Given the description of an element on the screen output the (x, y) to click on. 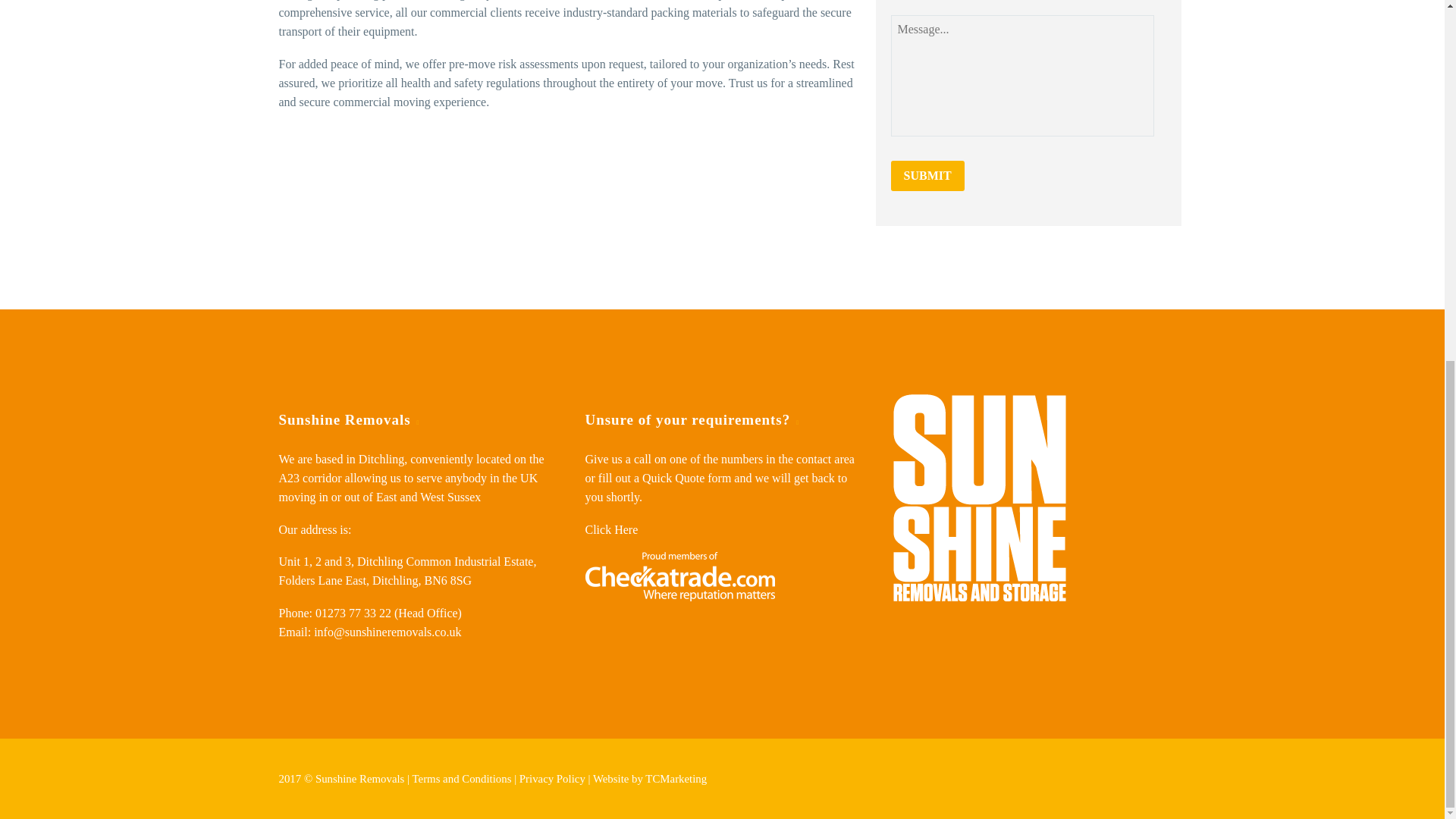
Submit (926, 175)
Submit (926, 175)
Click Here (612, 529)
